Given the description of an element on the screen output the (x, y) to click on. 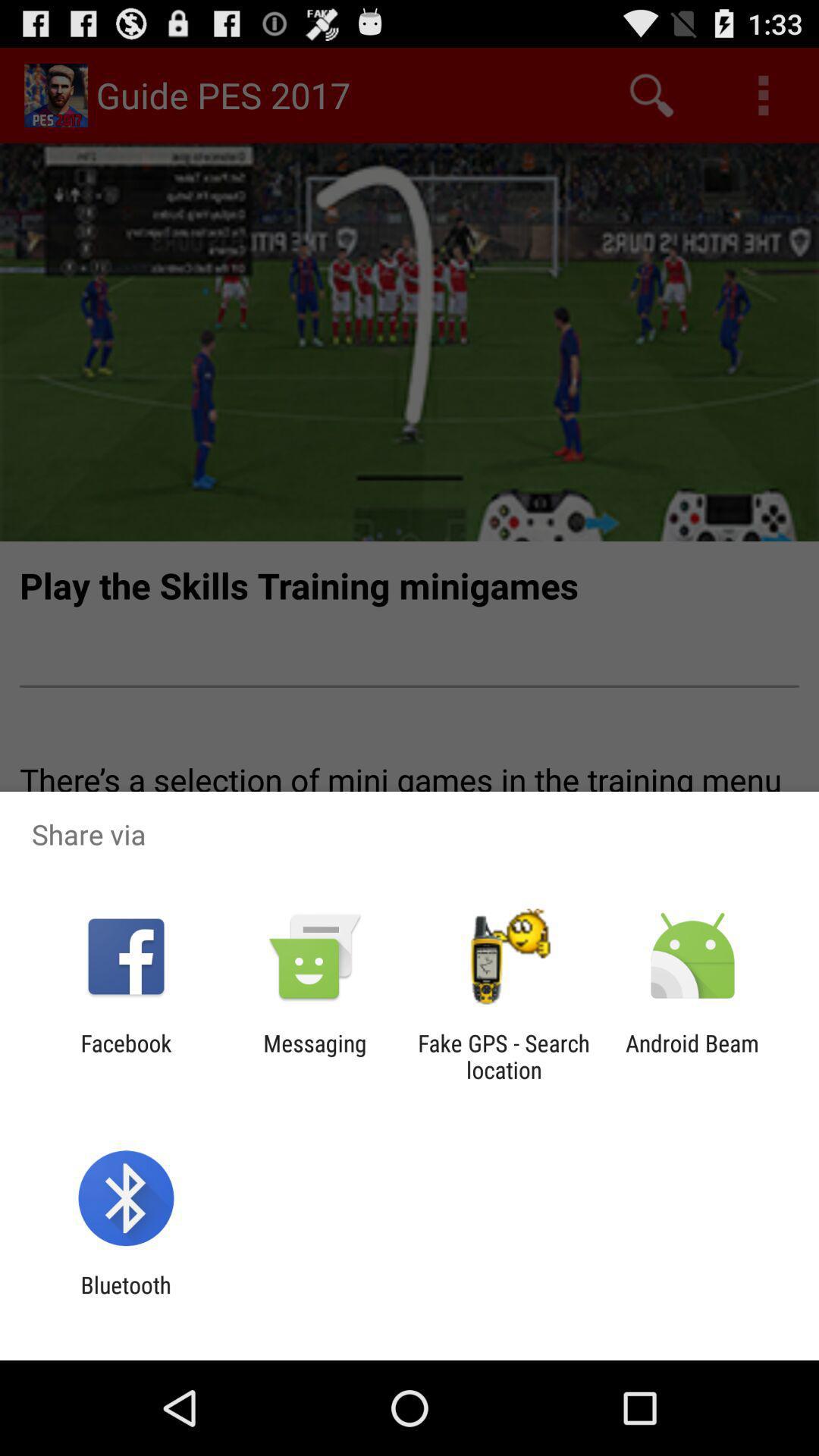
tap icon to the right of the fake gps search icon (692, 1056)
